Given the description of an element on the screen output the (x, y) to click on. 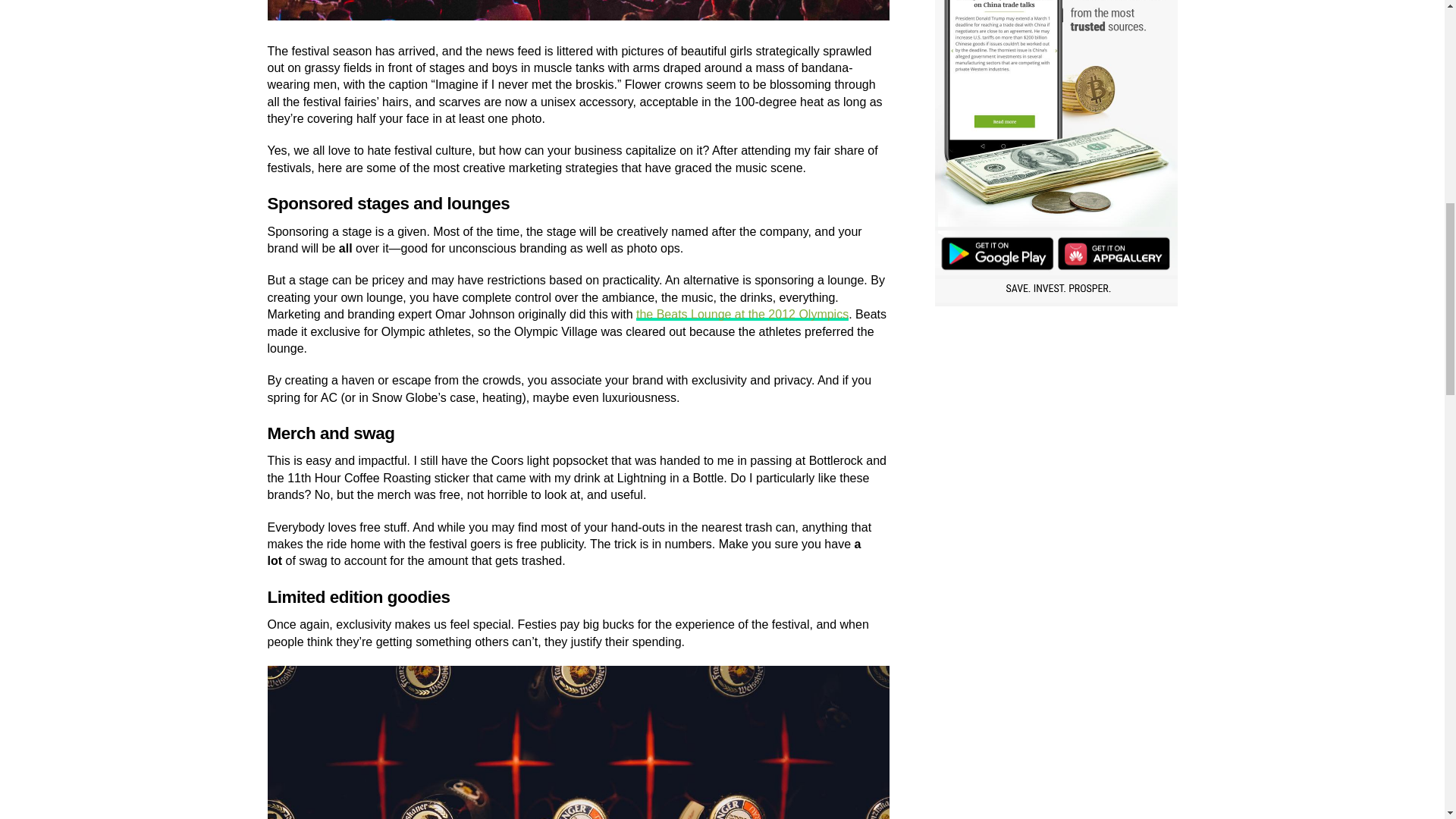
the Beats Lounge at the 2012 Olympics (742, 314)
